Given the description of an element on the screen output the (x, y) to click on. 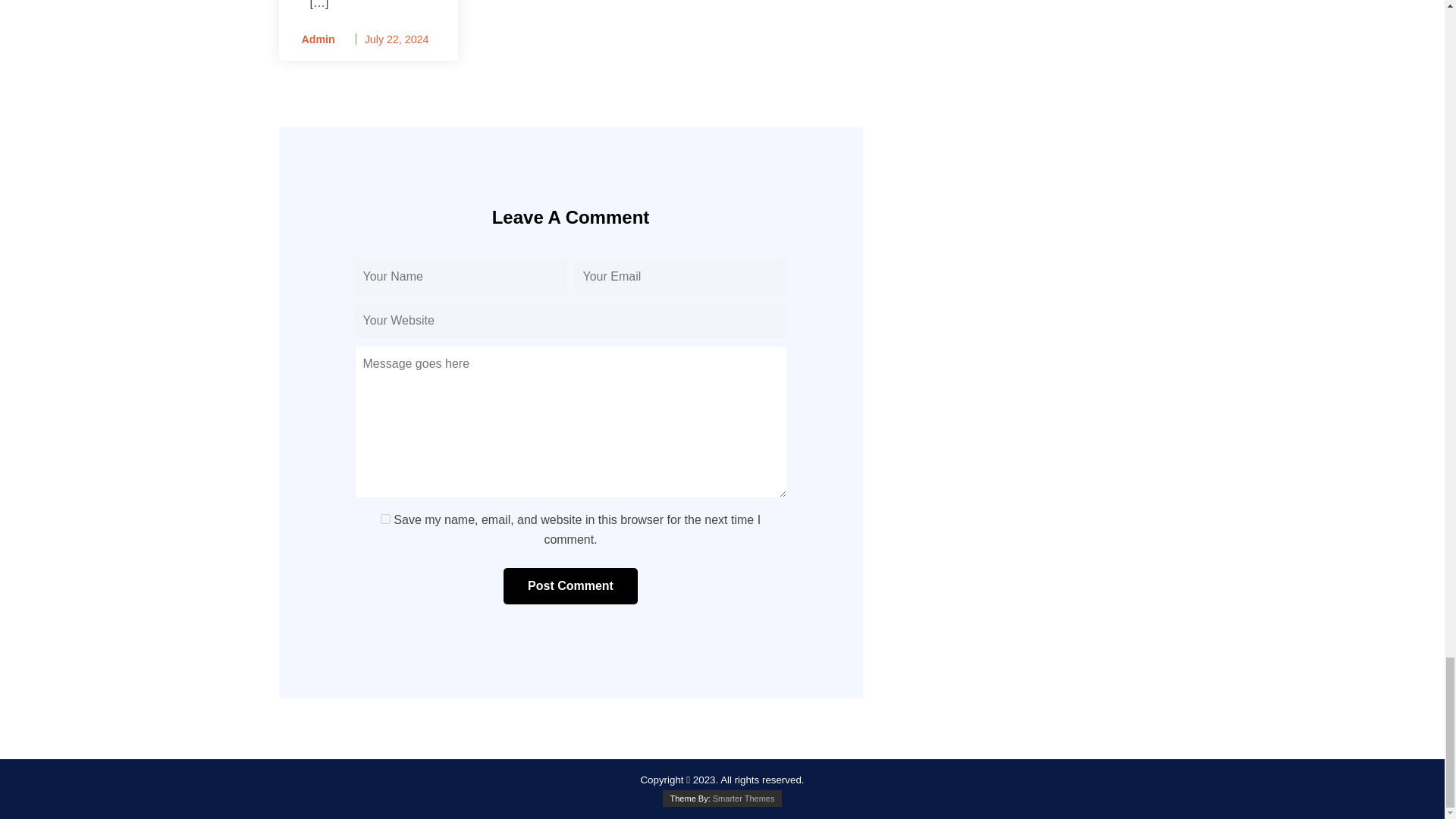
Post Comment (570, 586)
July 22, 2024 (397, 39)
yes (385, 519)
Admin (312, 39)
